Given the description of an element on the screen output the (x, y) to click on. 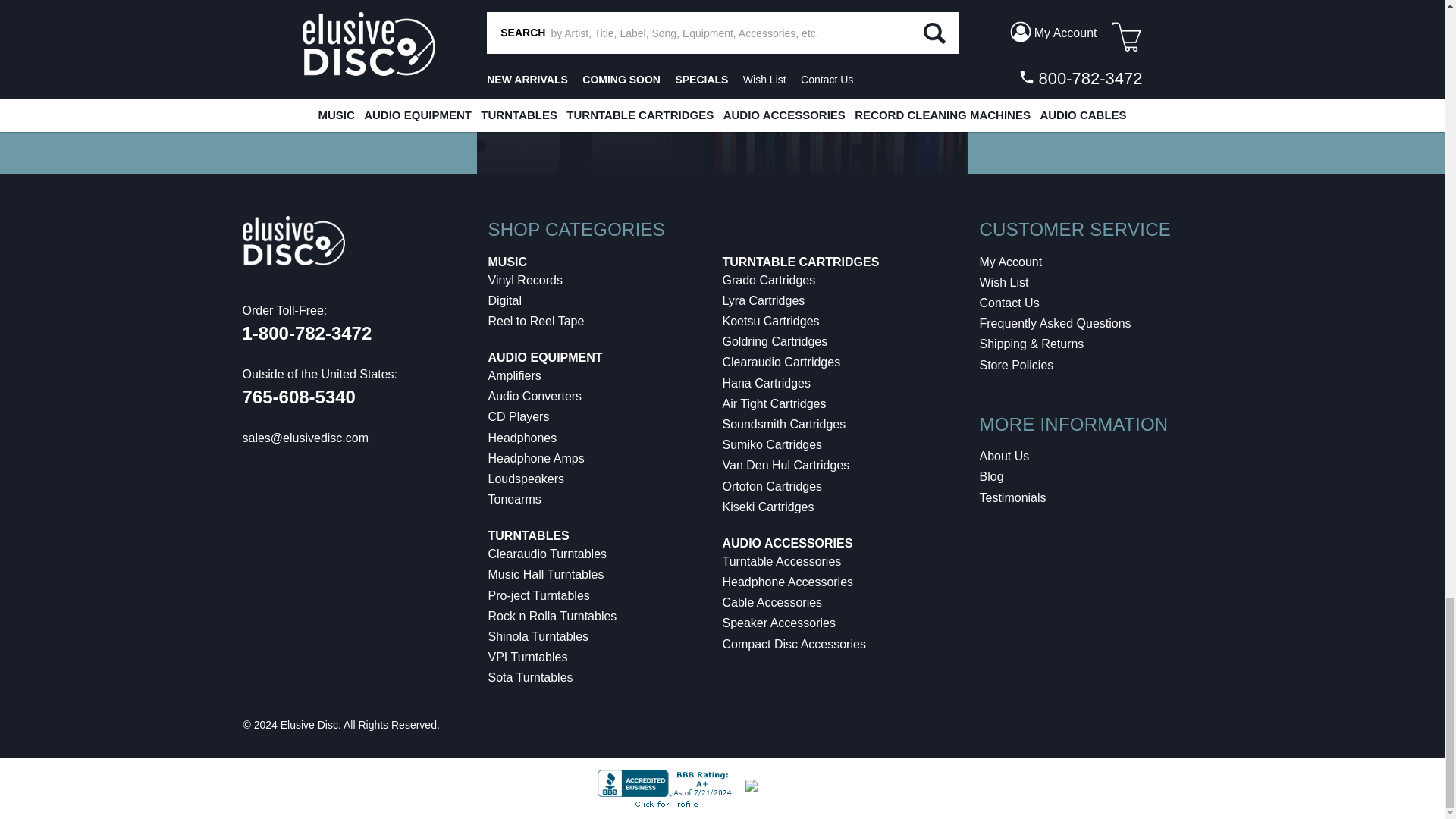
Reel to Reel Tape (536, 320)
Digital (504, 300)
Tonearm (514, 499)
Amplifiers (514, 375)
Sign Up (1323, 77)
CD Players (518, 416)
Loudspeakers (525, 478)
Headphone Amp (536, 458)
Headphones (522, 437)
Audio Converter (534, 395)
Vinyl Records (524, 279)
